Given the description of an element on the screen output the (x, y) to click on. 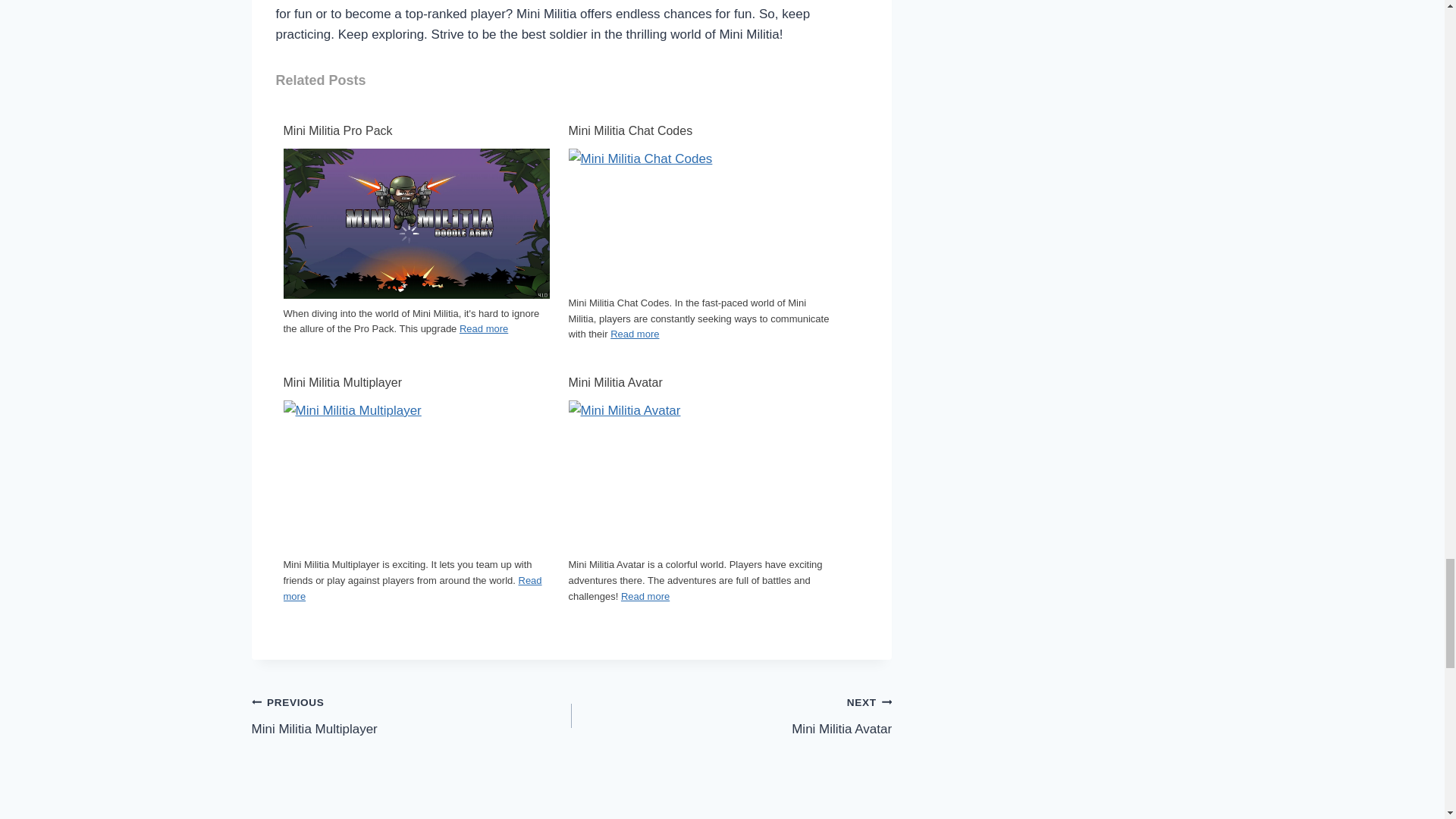
Mini Militia Multiplayer (416, 474)
Mini Militia Chat Codes (701, 218)
Mini Militia Multiplayer (416, 383)
Mini Militia Avatar (701, 383)
Mini Militia Chat Codes (701, 130)
Mini Militia Avatar (701, 475)
Mini Militia Pro Pack (416, 223)
Mini Militia Pro Pack (416, 130)
